Given the description of an element on the screen output the (x, y) to click on. 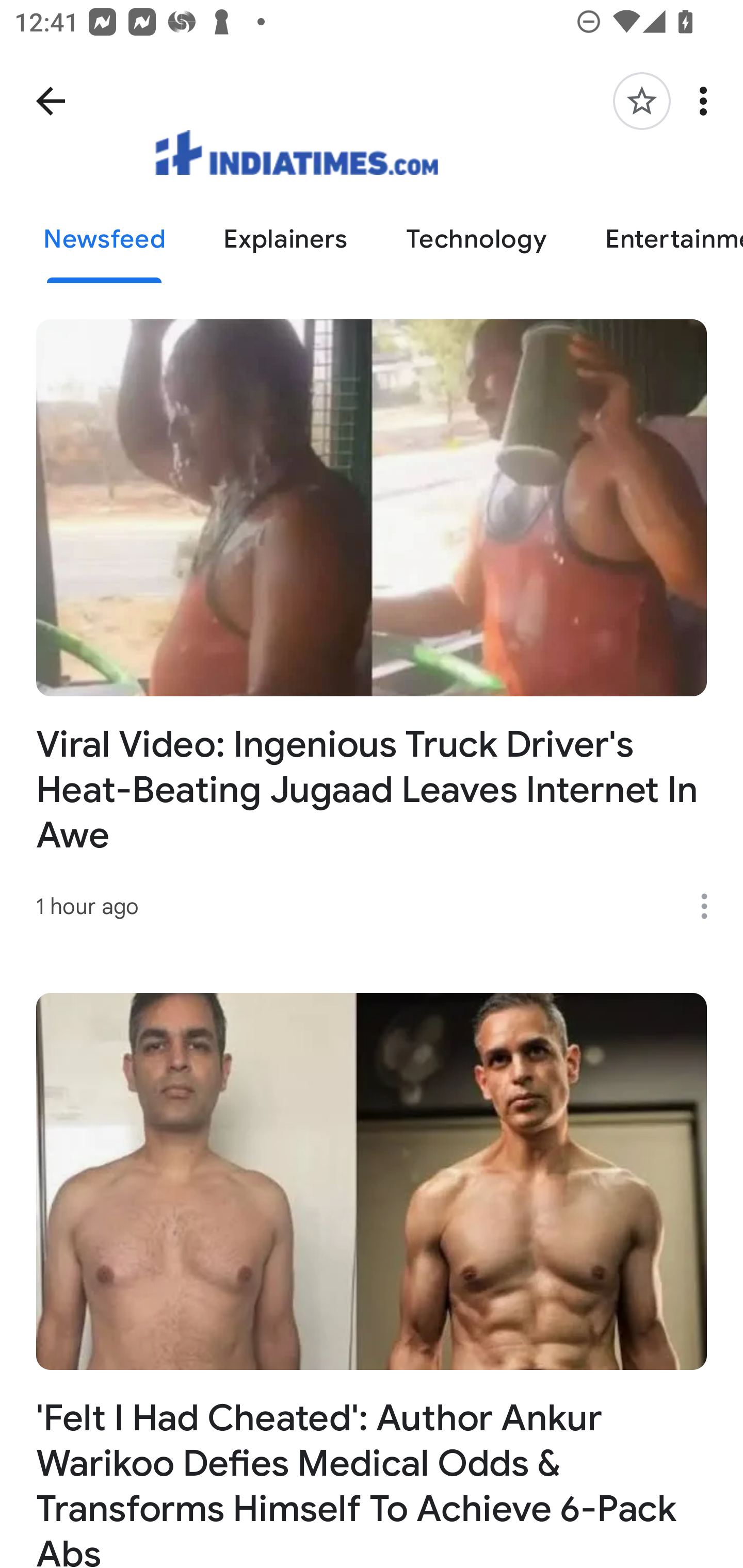
Navigate up (50, 101)
More options (706, 101)
Explainers (285, 239)
Technology (475, 239)
Entertainment (659, 239)
More options (711, 906)
